Given the description of an element on the screen output the (x, y) to click on. 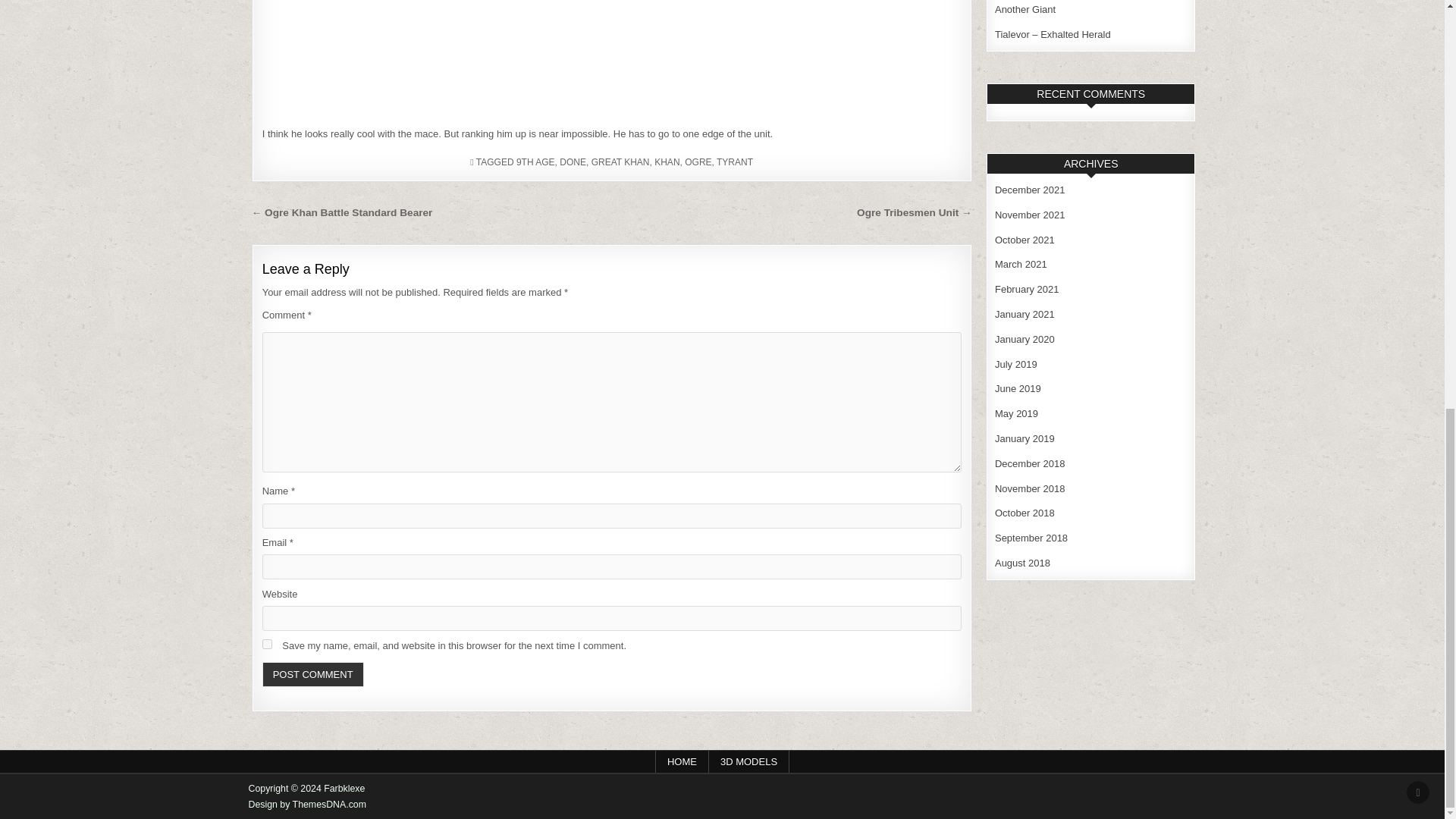
yes (267, 644)
Post Comment (313, 674)
OGRE (697, 162)
Post Comment (313, 674)
KHAN (666, 162)
DONE (572, 162)
TYRANT (734, 162)
GREAT KHAN (620, 162)
9TH AGE (535, 162)
